Given the description of an element on the screen output the (x, y) to click on. 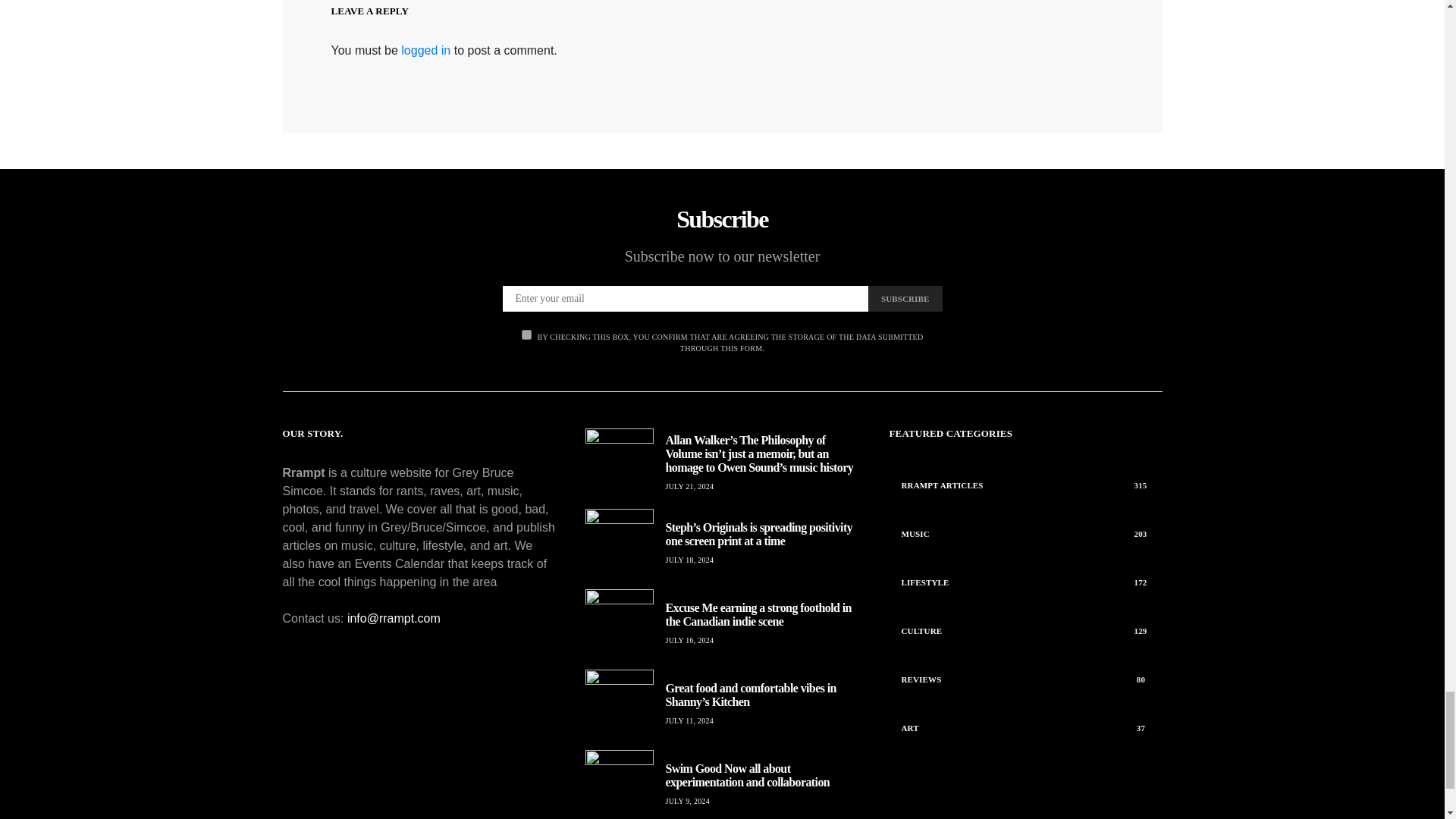
on (526, 334)
